Given the description of an element on the screen output the (x, y) to click on. 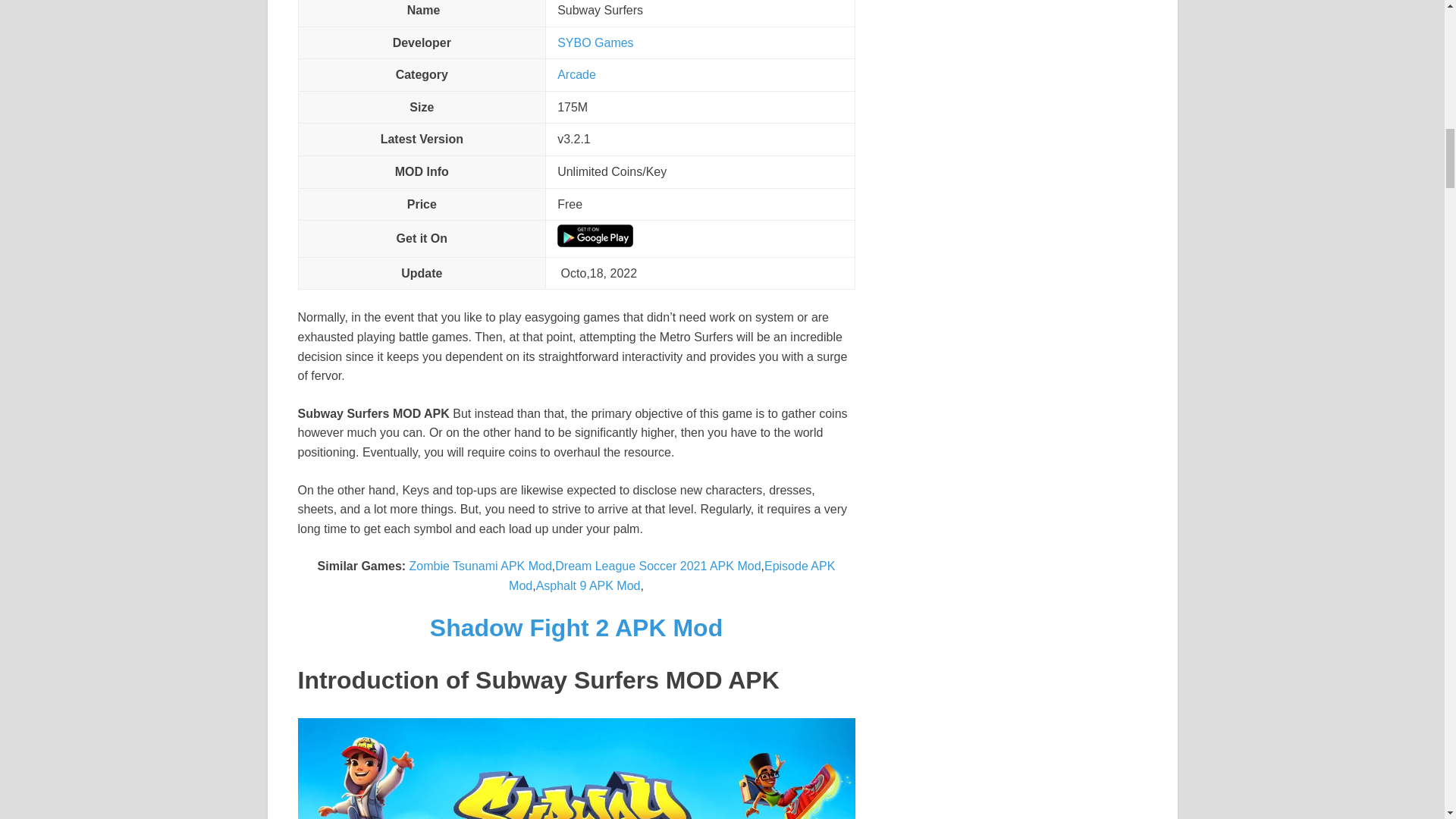
Shadow Fight 2 APK Mod (575, 627)
Dream League Soccer 2021 APK Mod (657, 565)
Arcade (576, 74)
Zombie Tsunami APK Mod (480, 565)
SYBO Games (595, 42)
Episode APK Mod (671, 575)
Asphalt 9 APK Mod (587, 585)
